Given the description of an element on the screen output the (x, y) to click on. 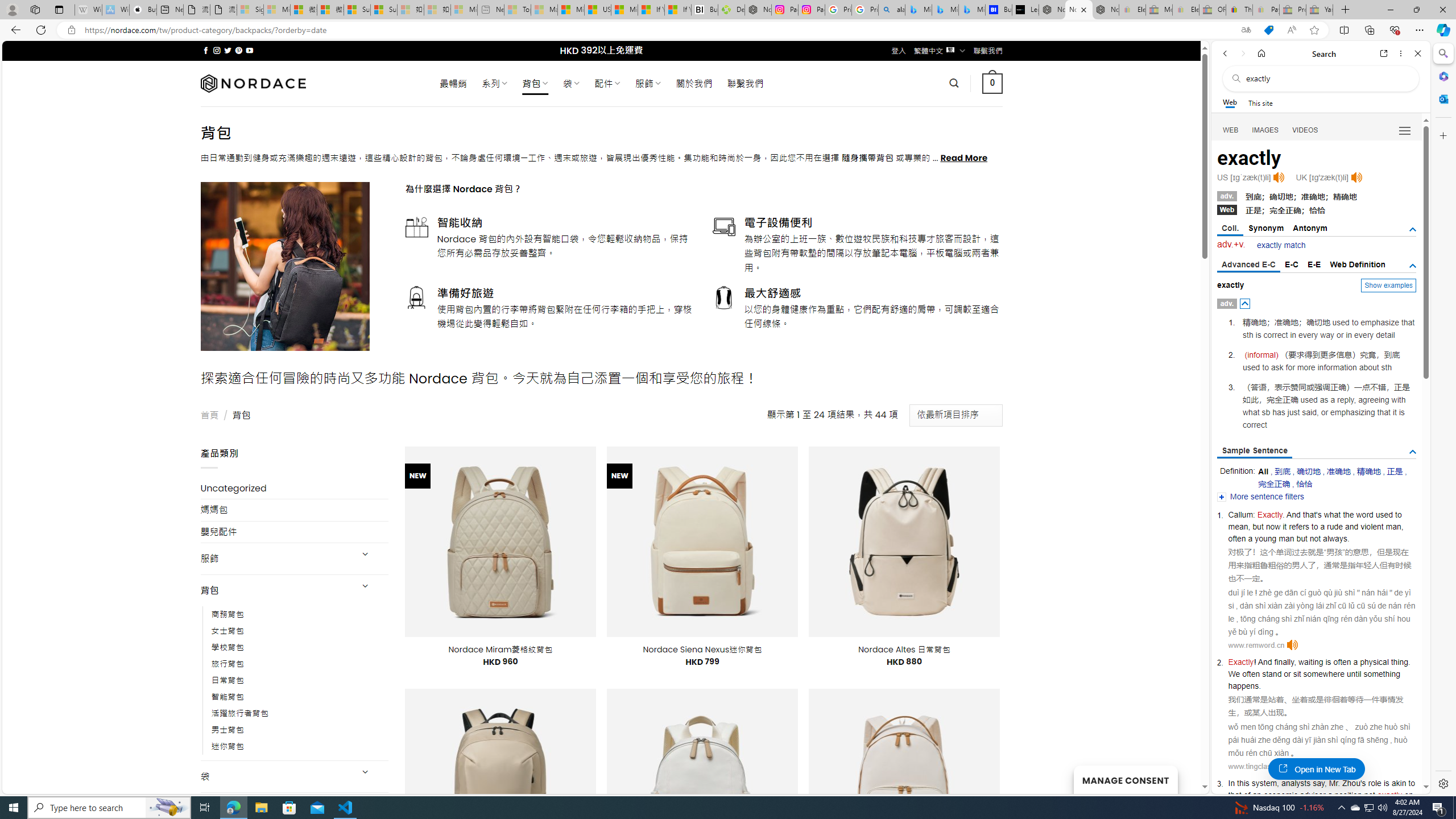
Web Definition (1357, 264)
not (1369, 794)
